Given the description of an element on the screen output the (x, y) to click on. 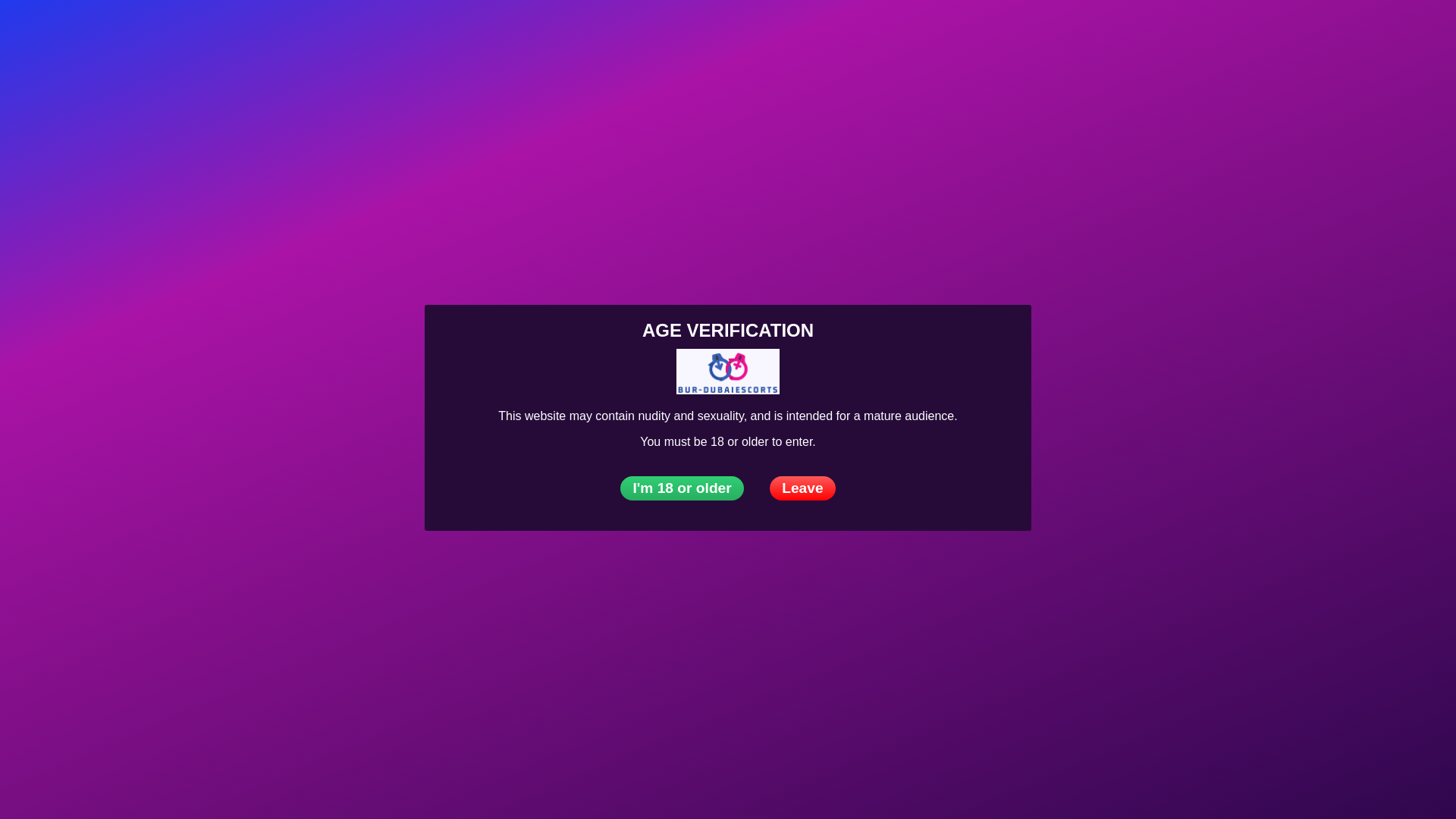
Our Blog (677, 33)
Escorts (212, 33)
Contact Us (754, 33)
Bur Dubai Escorts (152, 33)
Classified Ads (590, 33)
Search (1395, 31)
Escort Reviews (483, 33)
Agencies (280, 33)
Contact Us (1427, 31)
Home (152, 33)
Escorts on Tour (374, 33)
